Given the description of an element on the screen output the (x, y) to click on. 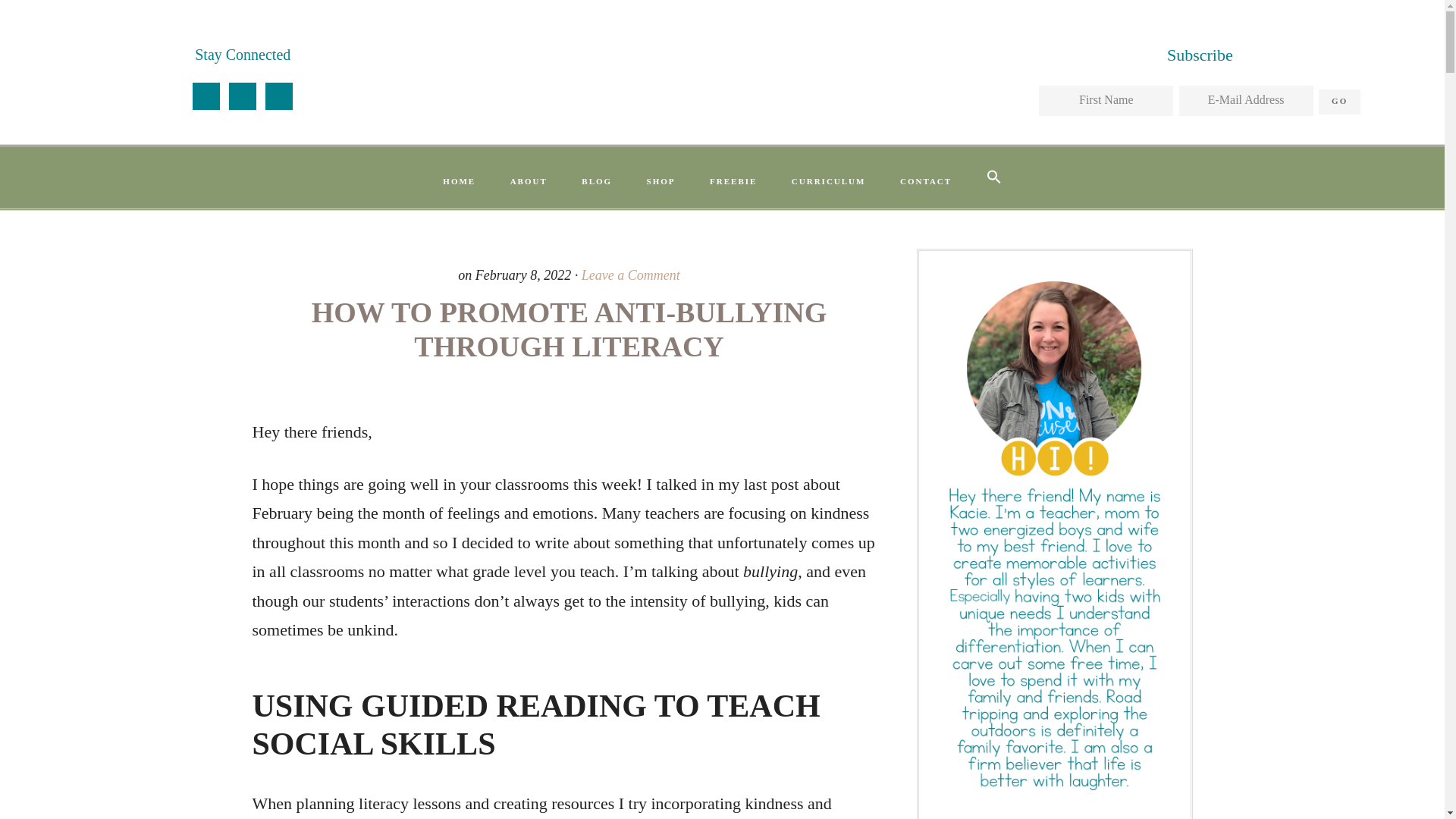
SHOP (660, 181)
HAVING FUN FIRST (721, 65)
HOME (459, 181)
BLOG (596, 181)
CURRICULUM (828, 181)
Go (1339, 101)
ABOUT (528, 181)
CONTACT (925, 181)
FREEBIE (732, 181)
Leave a Comment (629, 274)
